Given the description of an element on the screen output the (x, y) to click on. 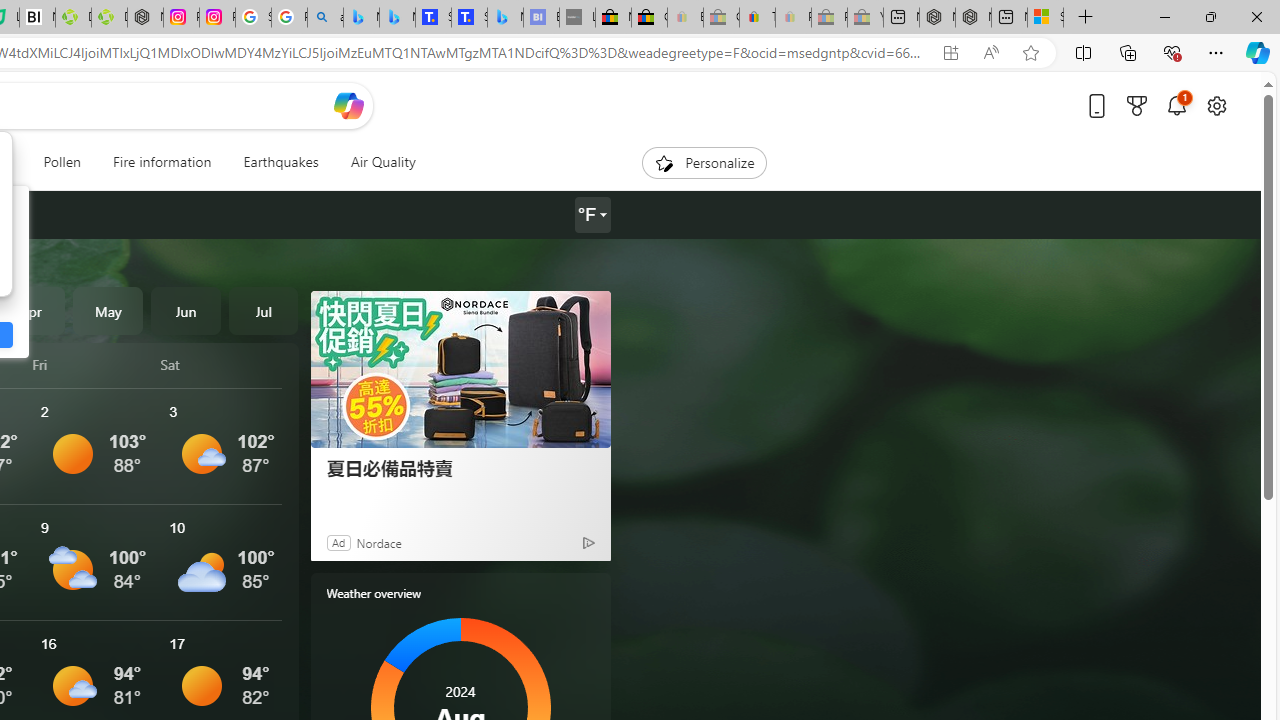
Fire information (162, 162)
Microsoft rewards (1137, 105)
Jun (186, 310)
Sign in to your Microsoft account (1045, 17)
Earthquakes (280, 162)
Jul (263, 310)
alabama high school quarterback dies - Search (325, 17)
Descarga Driver Updater (109, 17)
Air Quality (382, 162)
Notifications (1176, 105)
